Given the description of an element on the screen output the (x, y) to click on. 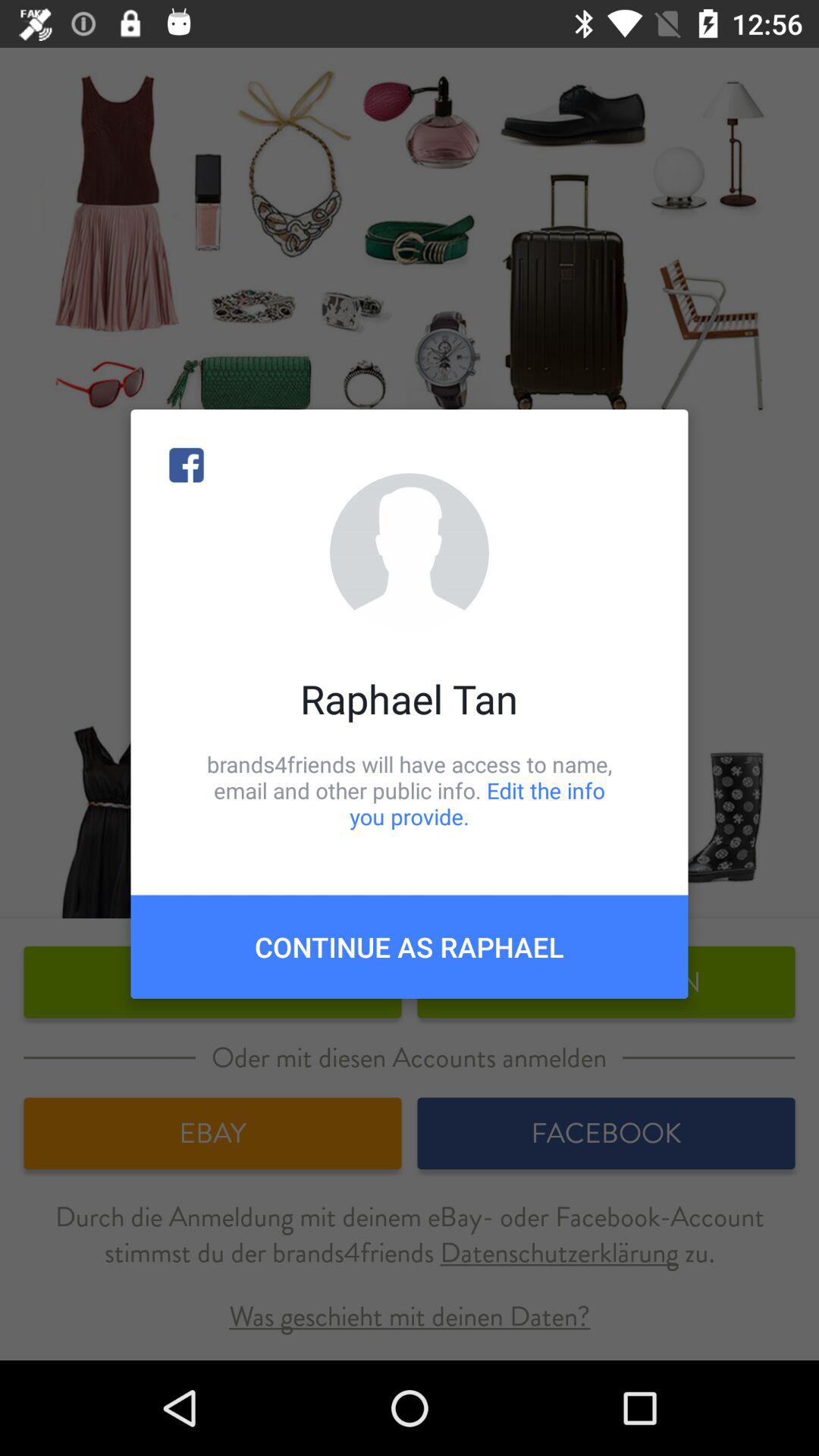
press brands4friends will have item (409, 790)
